Given the description of an element on the screen output the (x, y) to click on. 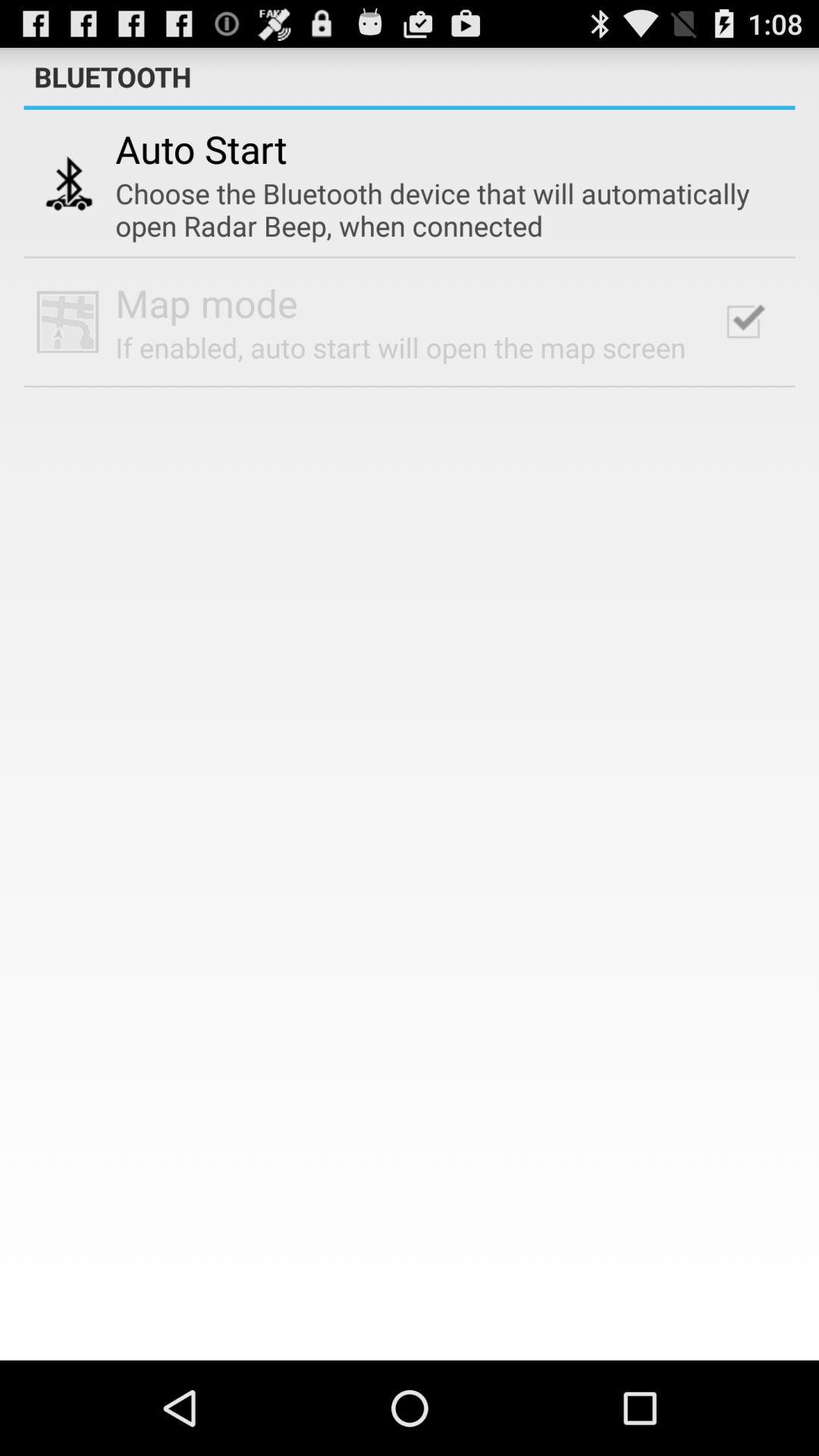
click the map mode (206, 302)
